Given the description of an element on the screen output the (x, y) to click on. 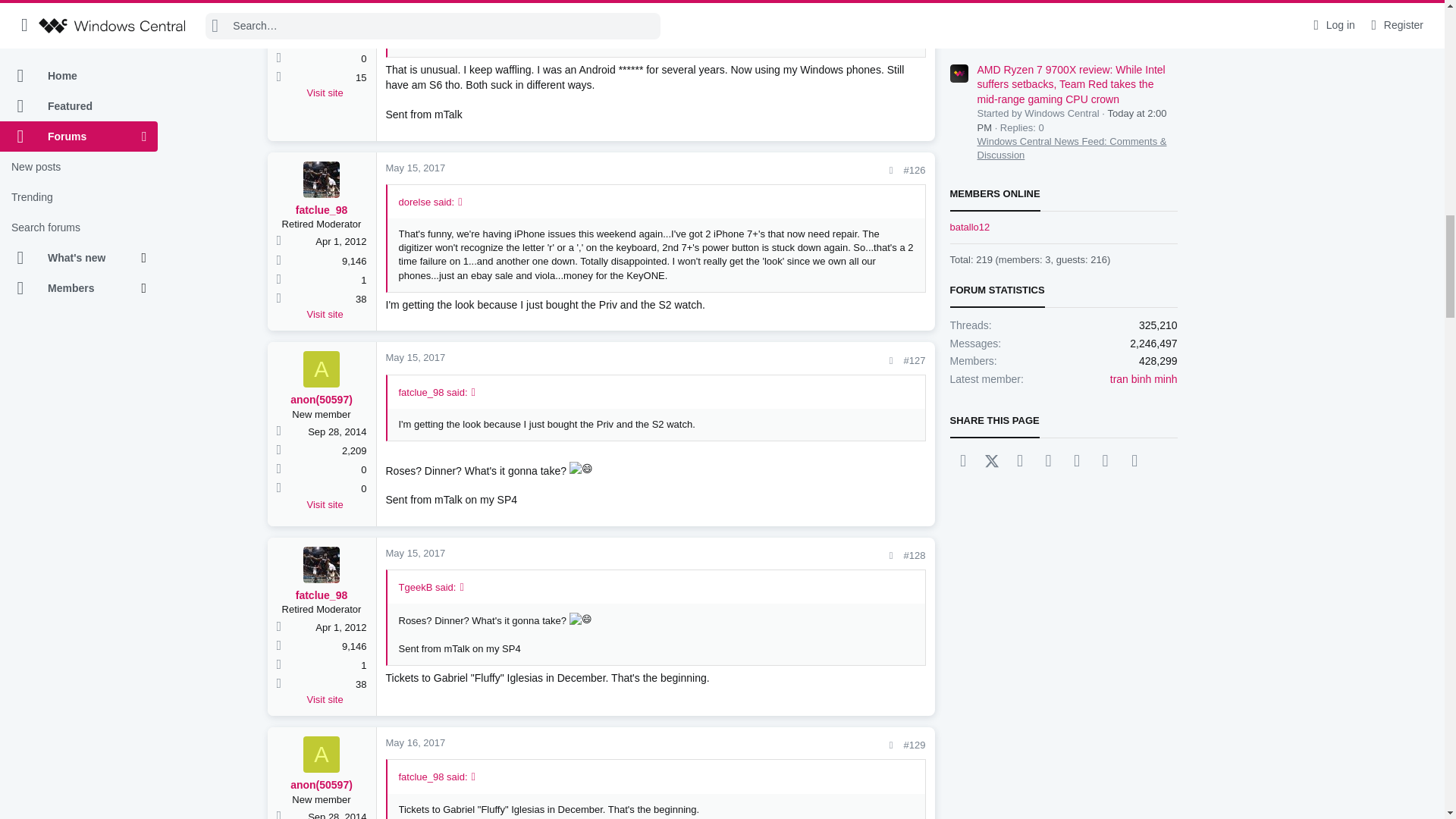
May 15, 2017 at 10:05 PM (415, 357)
May 15, 2017 at 1:26 PM (415, 167)
